Given the description of an element on the screen output the (x, y) to click on. 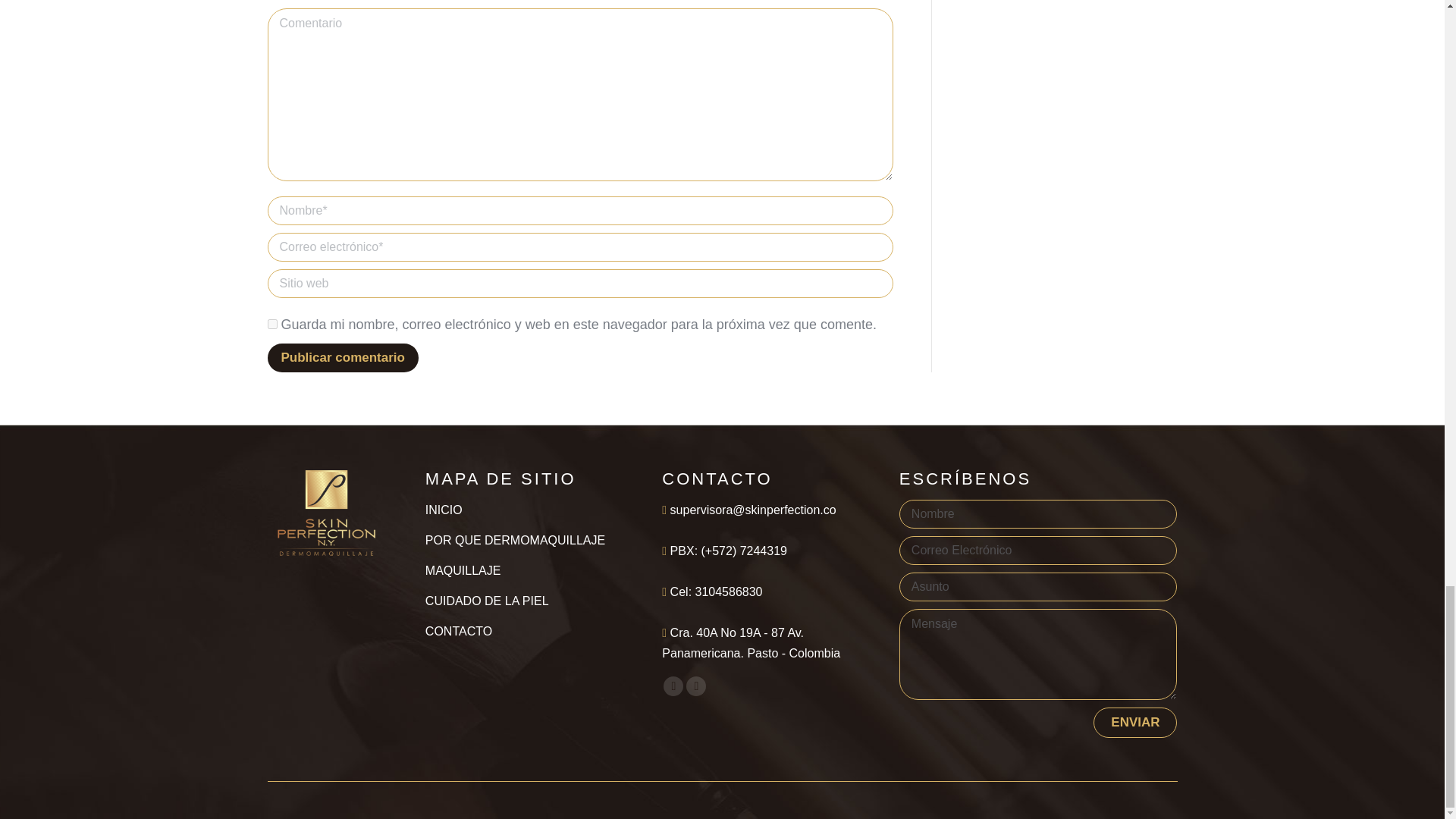
Instagram (695, 686)
ENVIAR (1134, 722)
Facebook (672, 686)
yes (271, 324)
